Given the description of an element on the screen output the (x, y) to click on. 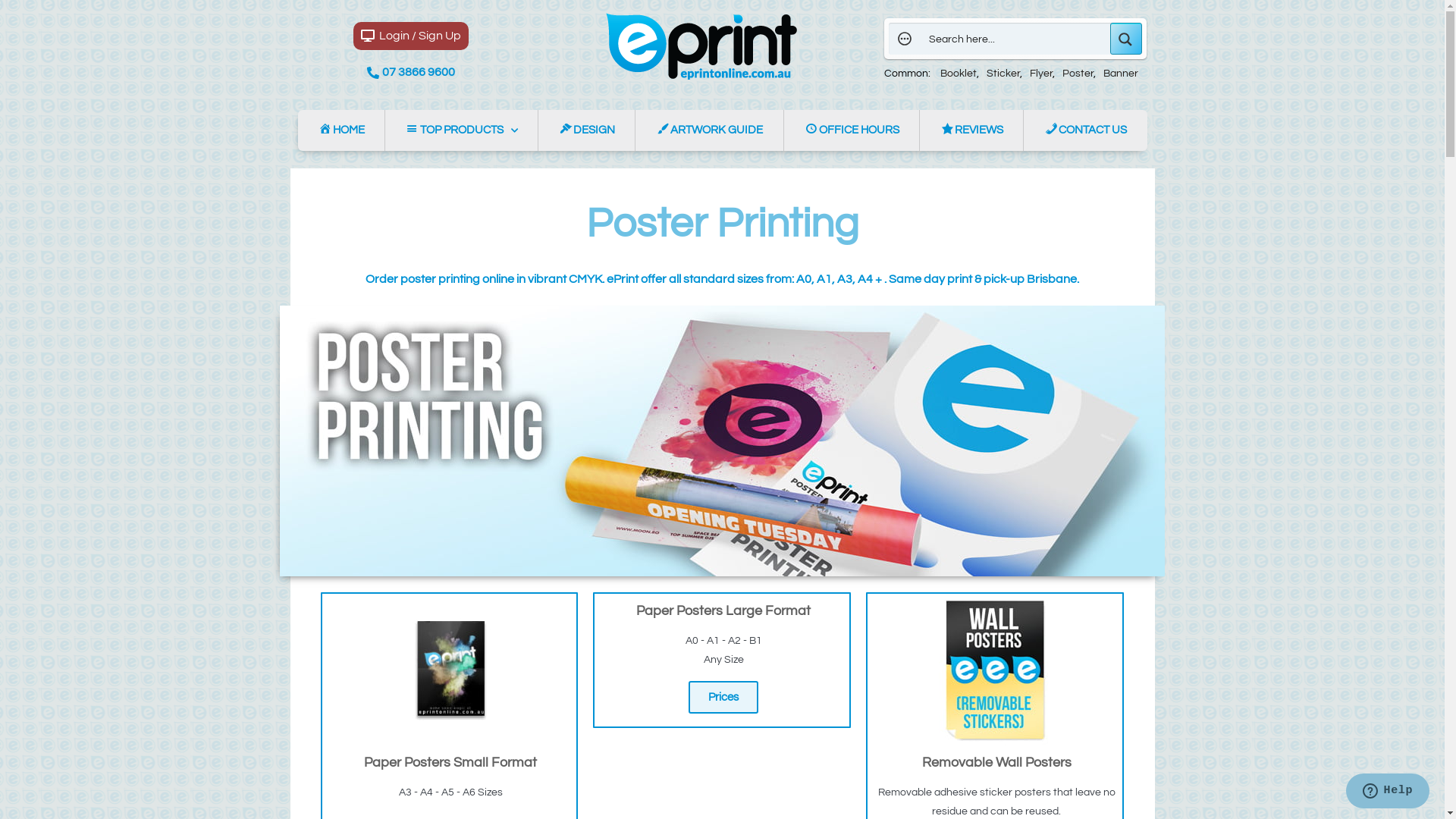
Poster Element type: text (1078, 73)
Opens a widget where you can chat to one of our agents Element type: hover (1387, 792)
TOP PRODUCTS Element type: text (461, 129)
Paper Posters Large Format
A0 - A1 - A2 - B1
Any Size
Prices Element type: text (721, 659)
CONTACT US Element type: text (1084, 129)
Login / Sign Up Element type: text (410, 35)
OFFICE HOURS Element type: text (851, 129)
Flyer Element type: text (1041, 73)
07 3866 9600 Element type: text (411, 72)
HOME Element type: text (340, 129)
ARTWORK GUIDE Element type: text (708, 129)
Sticker Element type: text (1004, 73)
DESIGN Element type: text (586, 129)
REVIEWS Element type: text (970, 129)
Booklet Element type: text (959, 73)
Banner Element type: text (1120, 73)
